Given the description of an element on the screen output the (x, y) to click on. 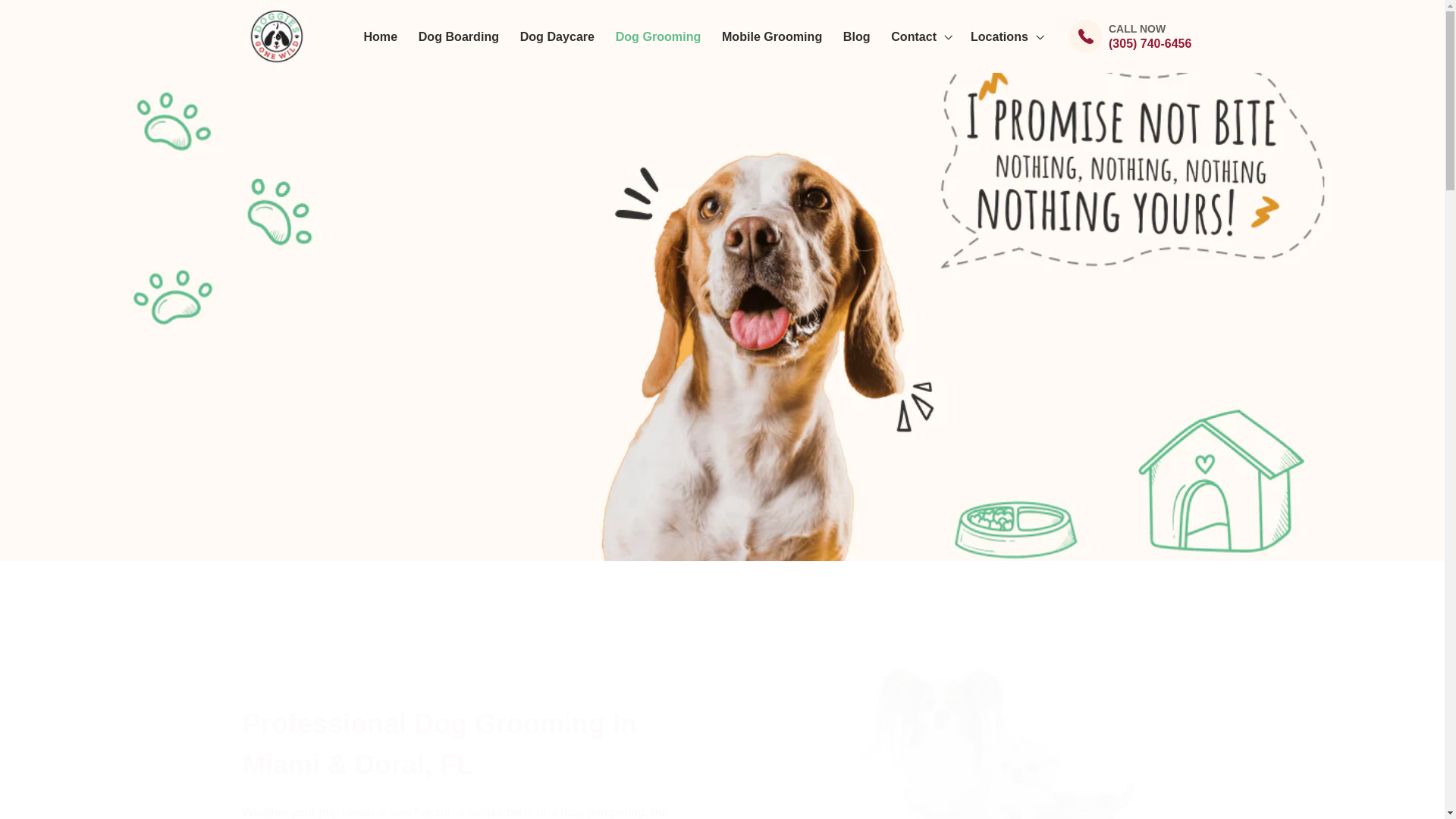
Dog Boarding (458, 36)
Skip to content (52, 20)
Dog Grooming (658, 36)
Dog Daycare (557, 36)
Blog (856, 36)
Home (380, 36)
Mobile Grooming (771, 36)
